Given the description of an element on the screen output the (x, y) to click on. 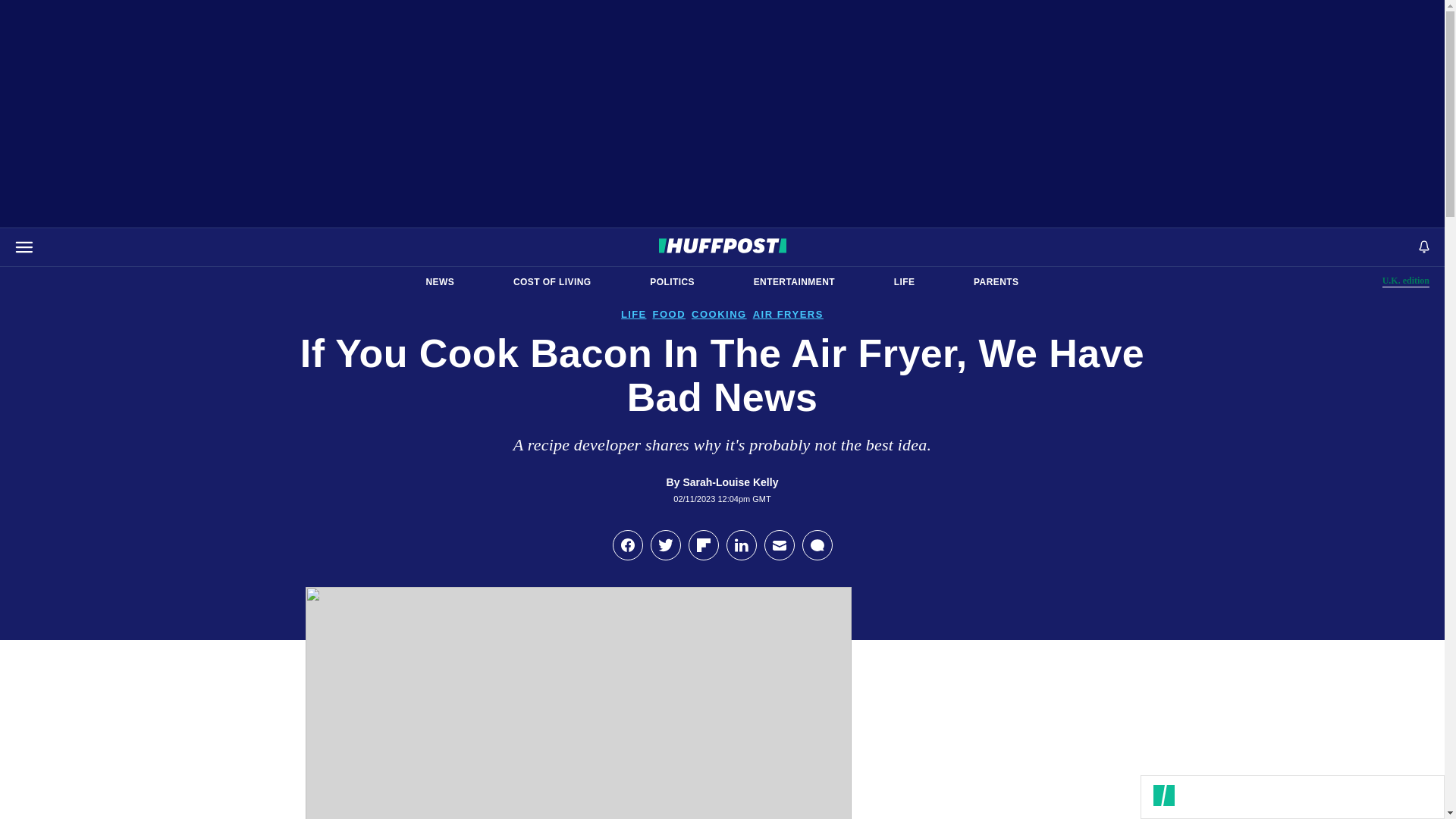
LIFE (1405, 281)
NEWS (904, 281)
POLITICS (440, 281)
ENTERTAINMENT (671, 281)
COST OF LIVING (794, 281)
PARENTS (552, 281)
